Given the description of an element on the screen output the (x, y) to click on. 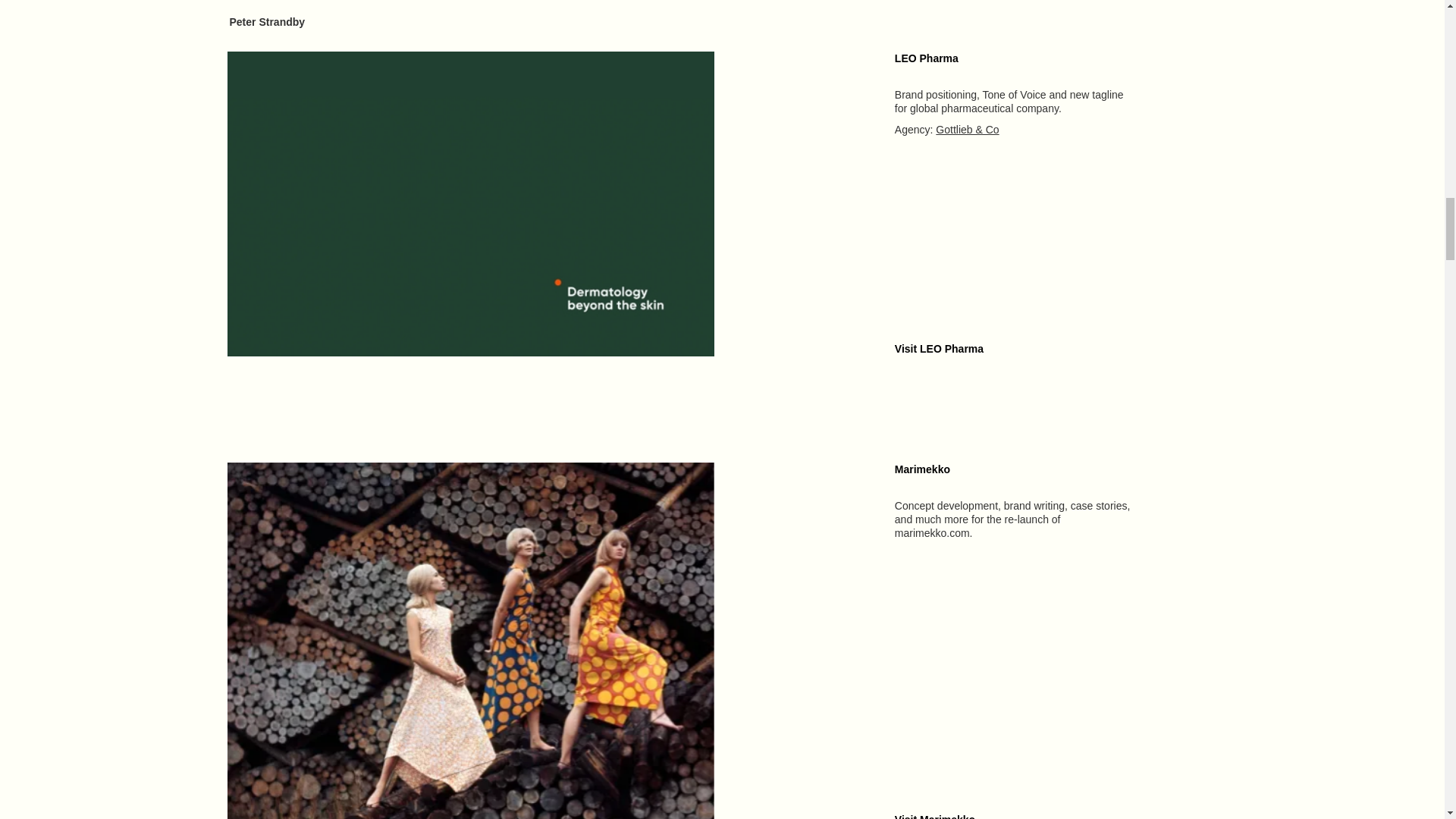
Visit LEO Pharma (939, 348)
Visit Marimekko (935, 816)
